Given the description of an element on the screen output the (x, y) to click on. 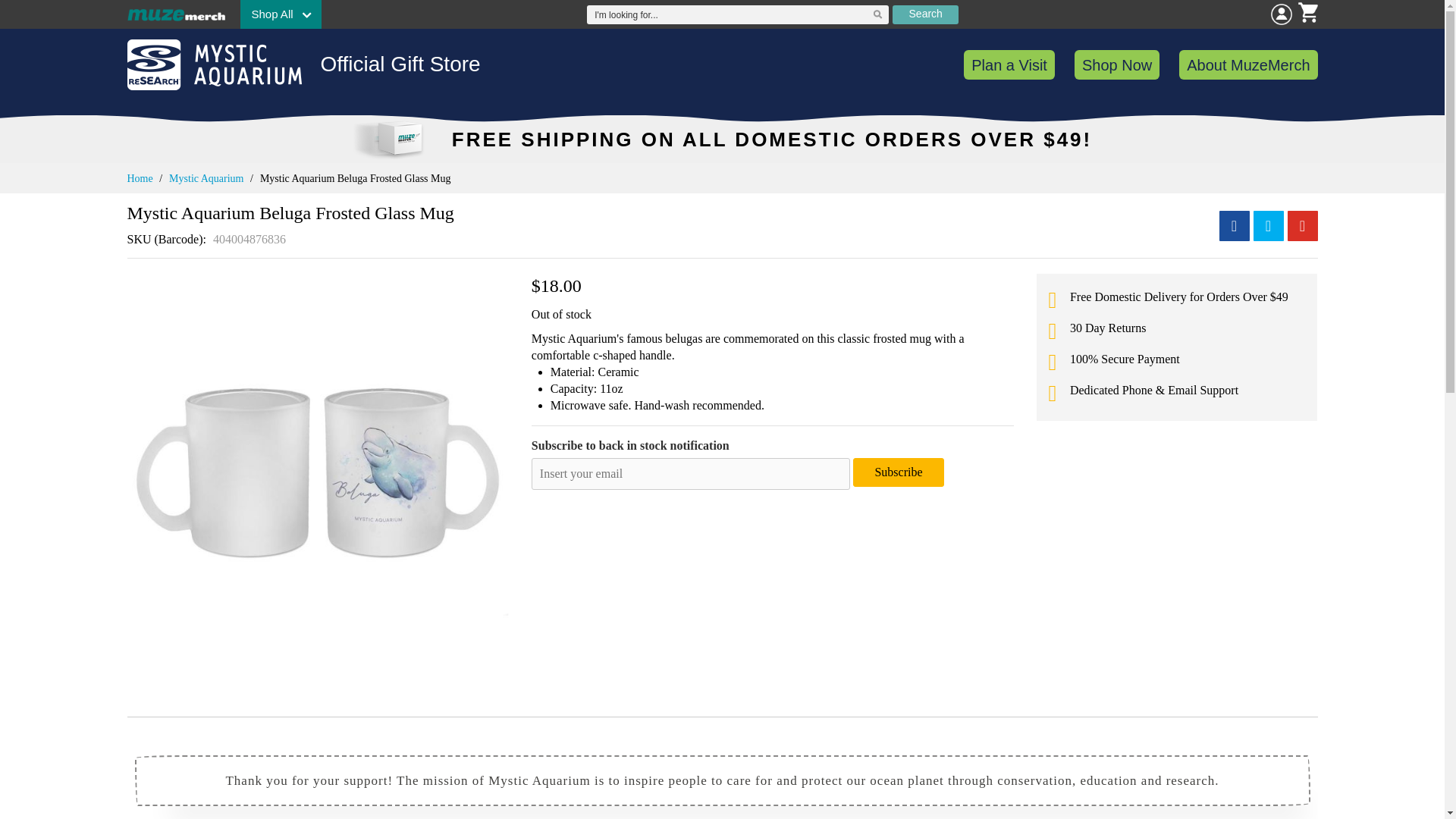
Shop All (280, 14)
Share via Gmail (1302, 225)
Search (925, 13)
Mystic Aquarium (205, 178)
Go to Home Page (140, 178)
Share on Facebook (1234, 225)
Search (925, 13)
Share on Twitter (1267, 225)
Availability (561, 314)
